Given the description of an element on the screen output the (x, y) to click on. 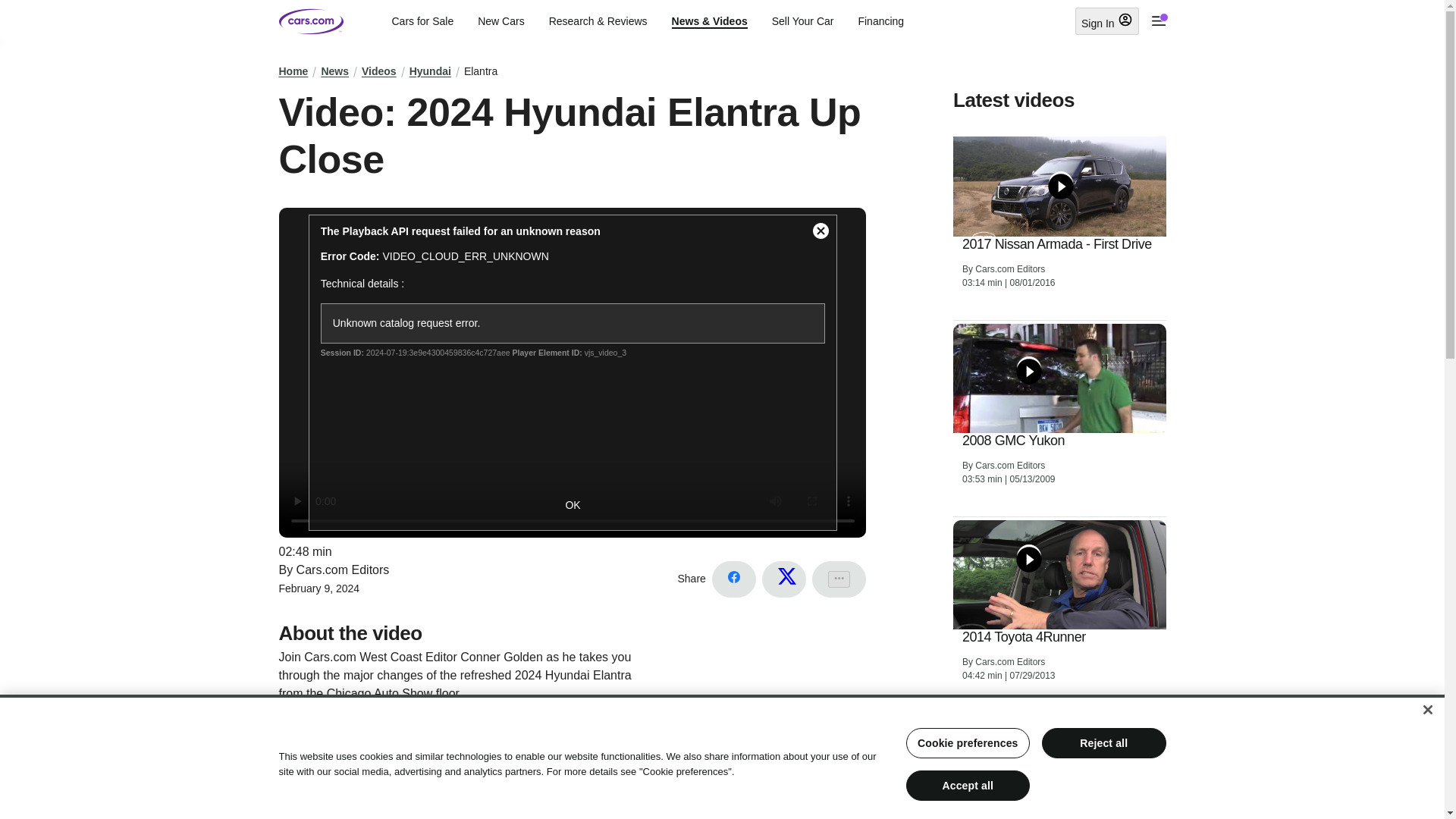
2017 Nissan Armada - First Drive (1056, 244)
Hyundai (430, 71)
News (334, 71)
2008 GMC Yukon (1013, 441)
New Cars (500, 21)
Videos (378, 71)
Cars for Sale (421, 21)
2014 Toyota 4Runner (1024, 637)
Home (293, 71)
Sell Your Car (802, 21)
Financing (880, 21)
See all videos (1126, 728)
Skip to main content (12, 11)
